Given the description of an element on the screen output the (x, y) to click on. 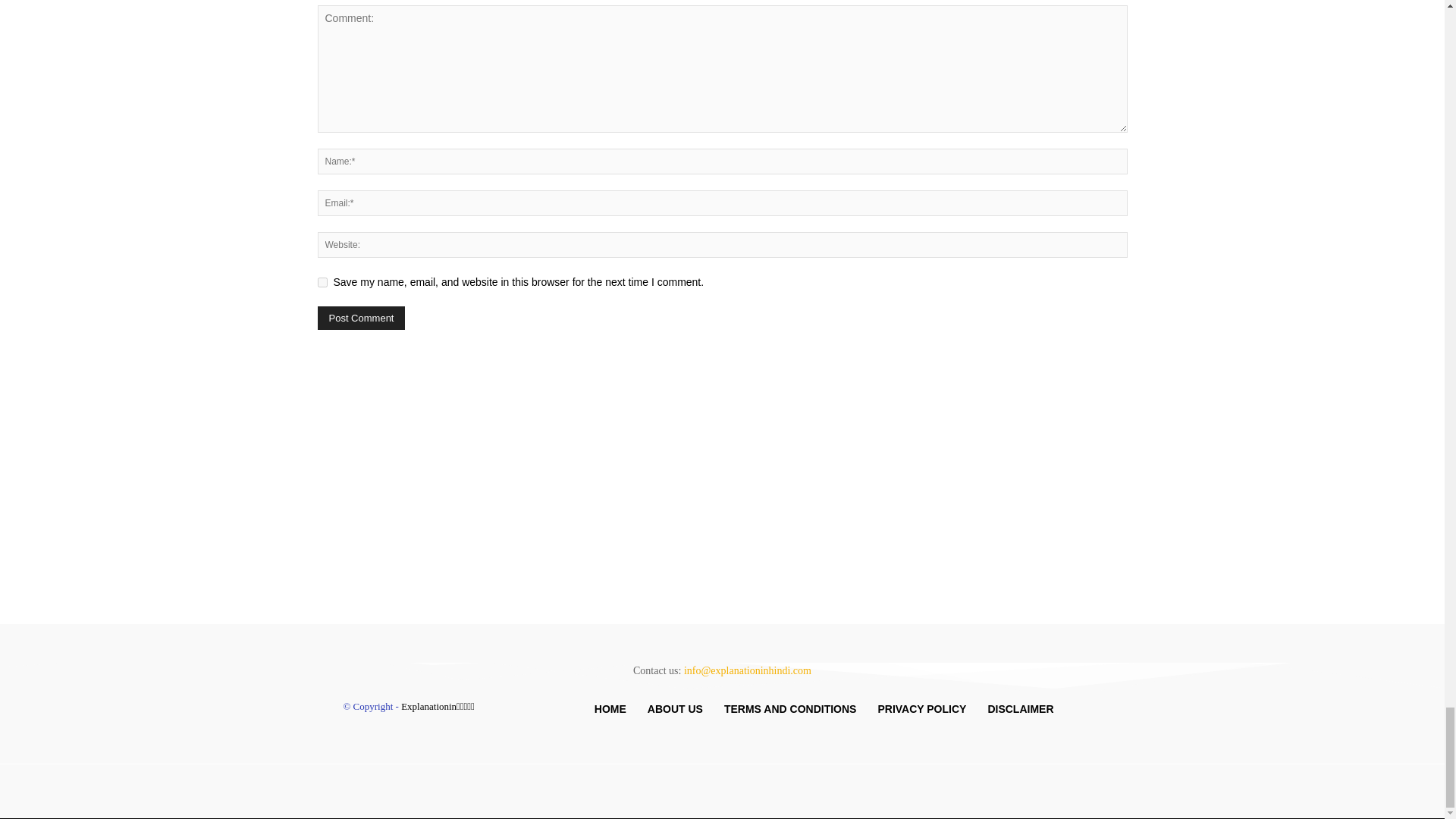
yes (321, 282)
Post Comment (360, 318)
